Given the description of an element on the screen output the (x, y) to click on. 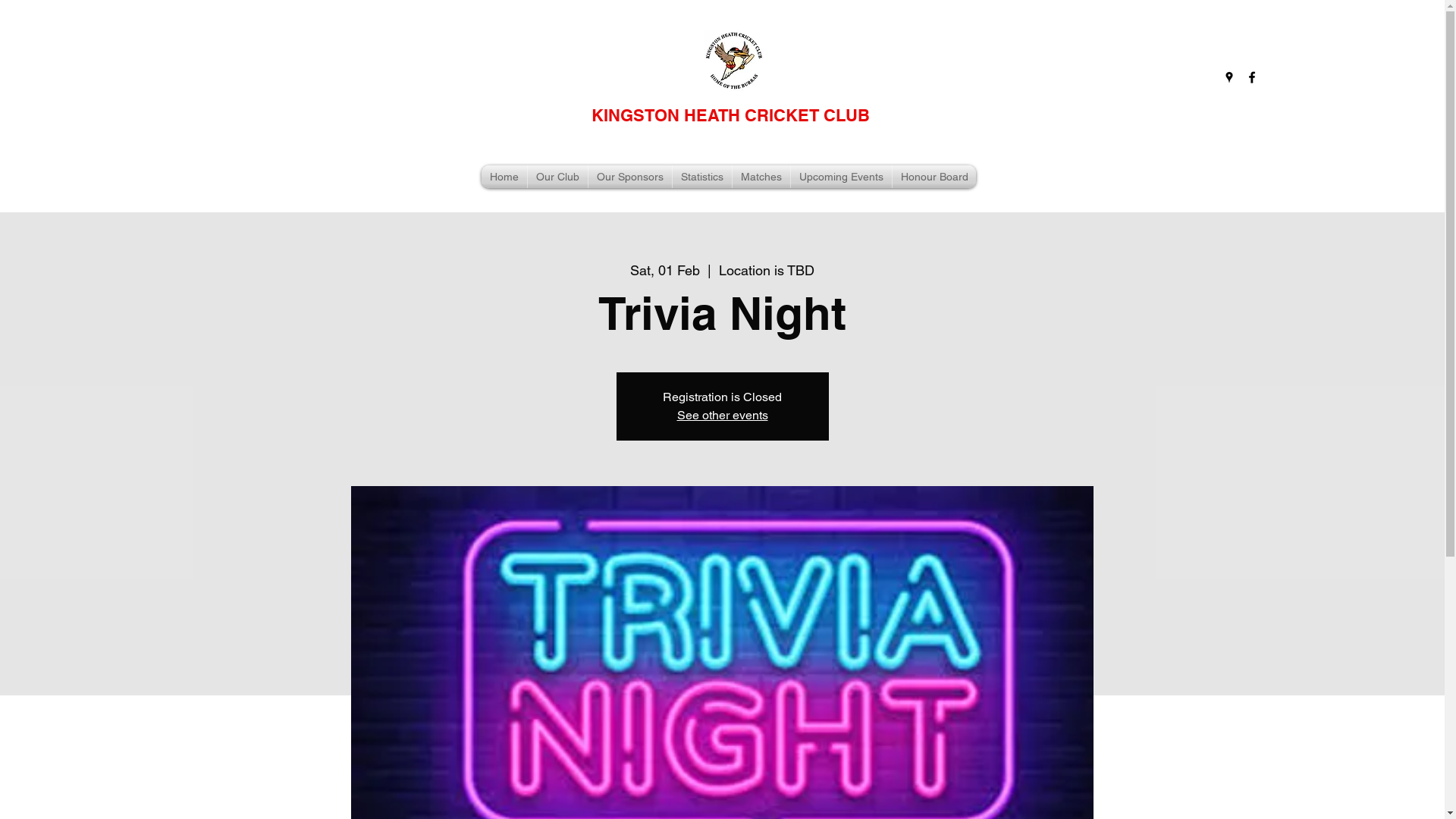
Home Element type: text (504, 176)
KINGSTON HEATH CRICKET CLUB Element type: text (730, 115)
Upcoming Events Element type: text (840, 176)
See other events Element type: text (721, 414)
Our Sponsors Element type: text (629, 176)
